Given the description of an element on the screen output the (x, y) to click on. 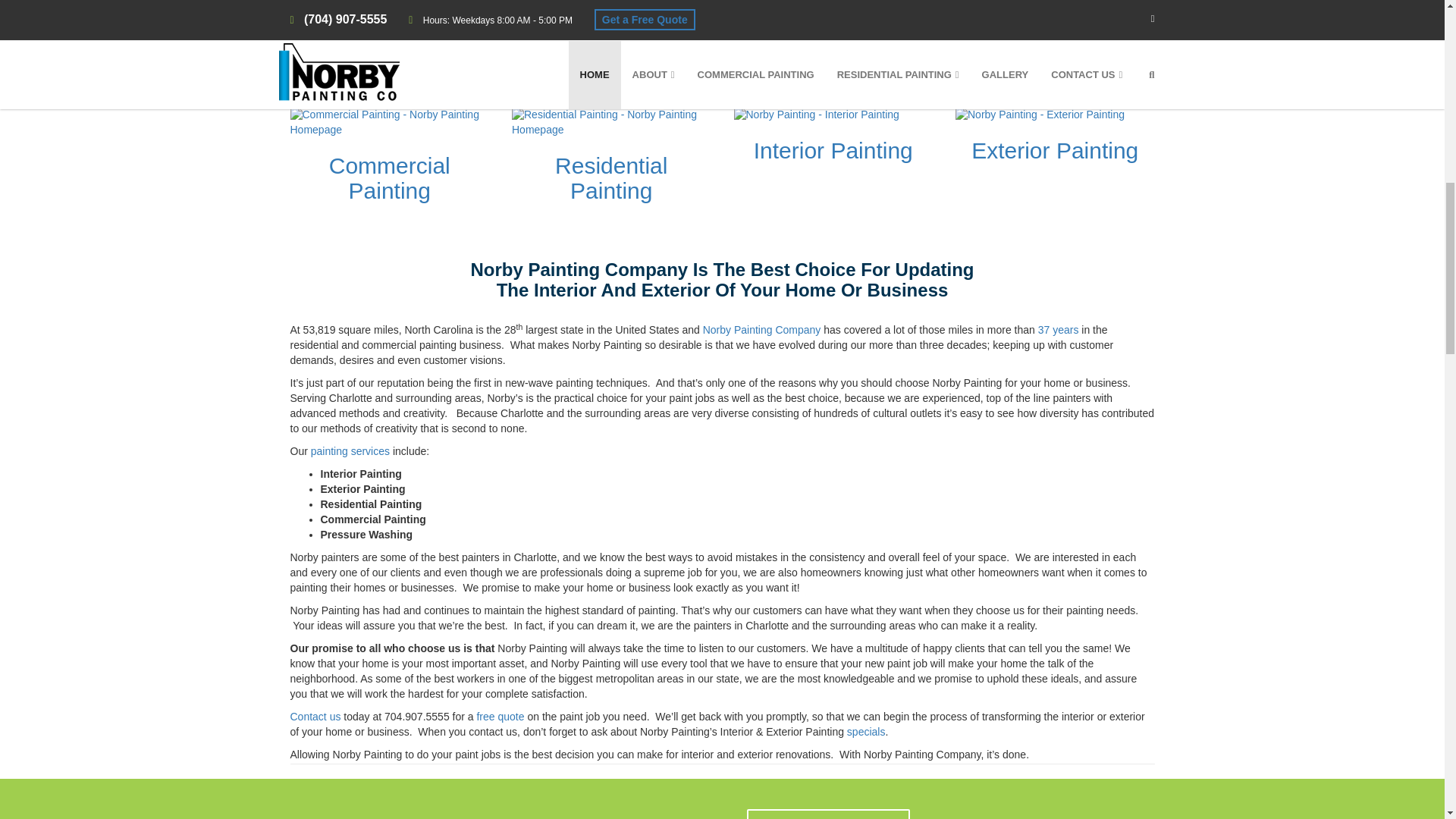
painting services (350, 451)
Norby Painting Company (762, 329)
Residential Painting (610, 178)
specials (866, 731)
Commercial Painting (389, 178)
Exterior Painting (1054, 150)
free quote (500, 716)
Contact us (314, 716)
37 years (1058, 329)
Interior Painting (833, 150)
